Given the description of an element on the screen output the (x, y) to click on. 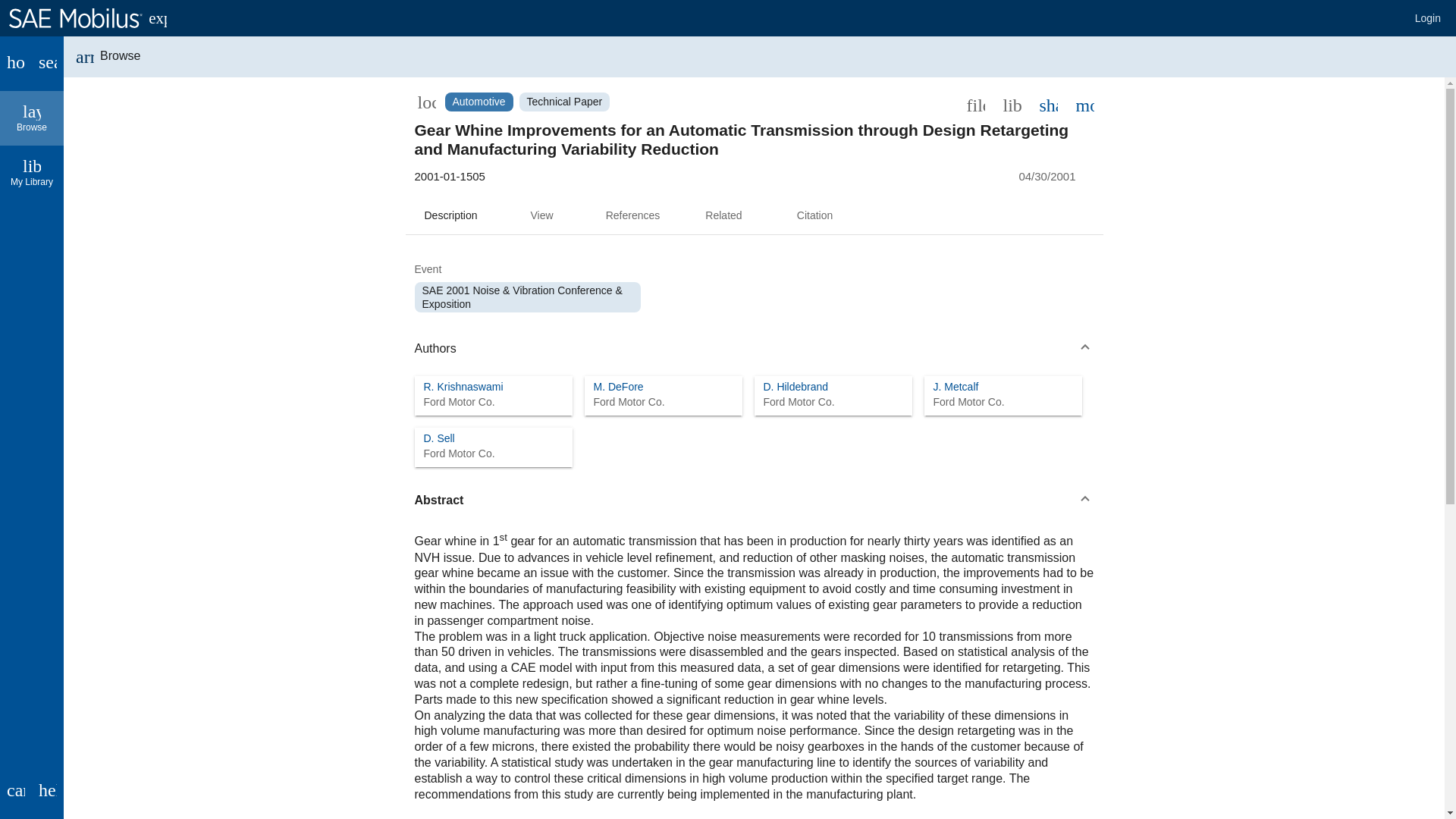
Ford Motor Co. (459, 453)
J. Metcalf (955, 386)
Ford Motor Co. (968, 401)
M. DeFore (617, 386)
View (541, 216)
Related (723, 216)
Ford Motor Co. (627, 401)
Ford Motor Co. (798, 401)
Ford Motor Co. (32, 117)
Description (459, 401)
D. Sell (450, 216)
Automotive (438, 438)
Technical Paper (478, 101)
share (564, 101)
